Given the description of an element on the screen output the (x, y) to click on. 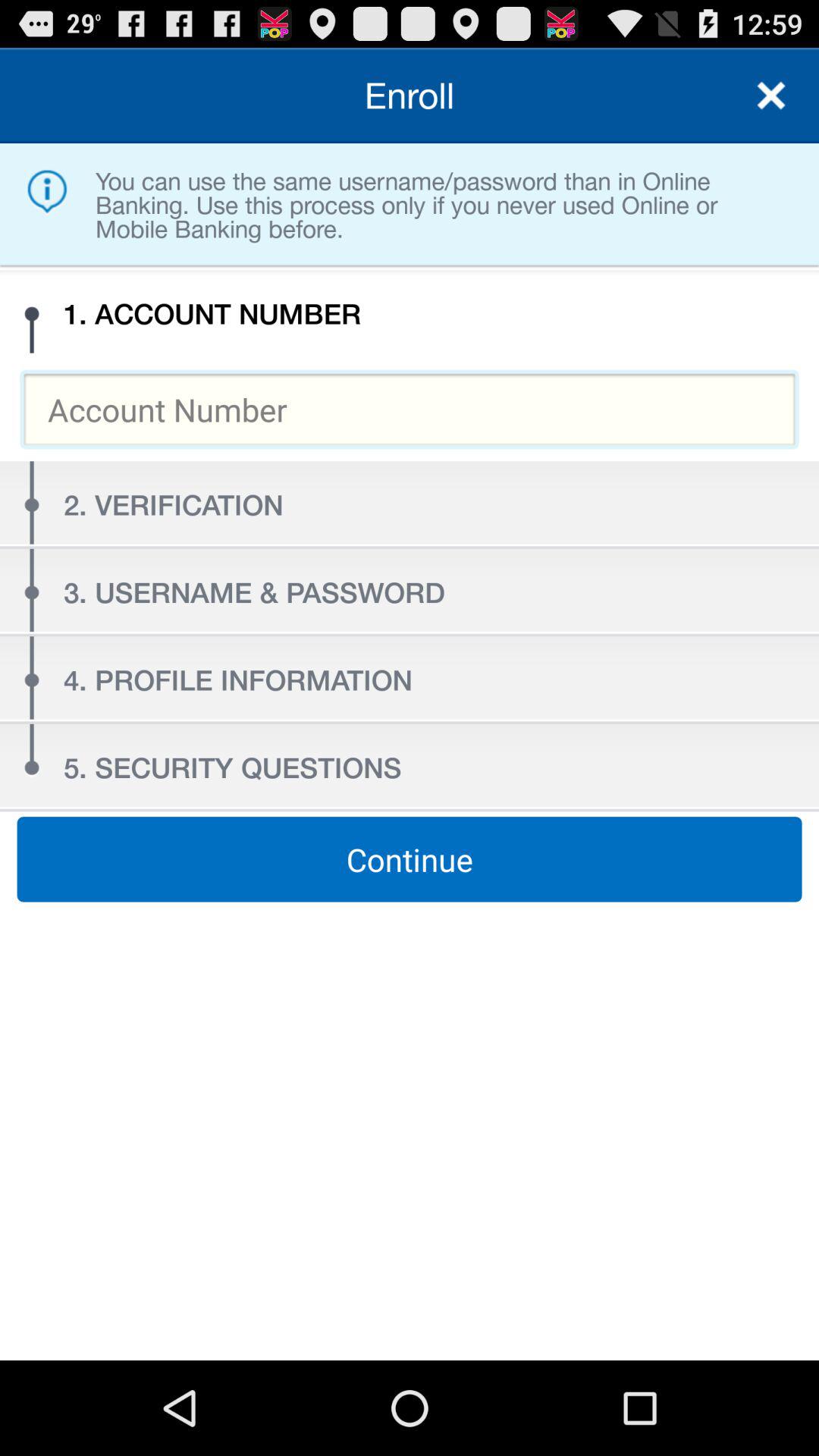
launch item above you can use (771, 95)
